Given the description of an element on the screen output the (x, y) to click on. 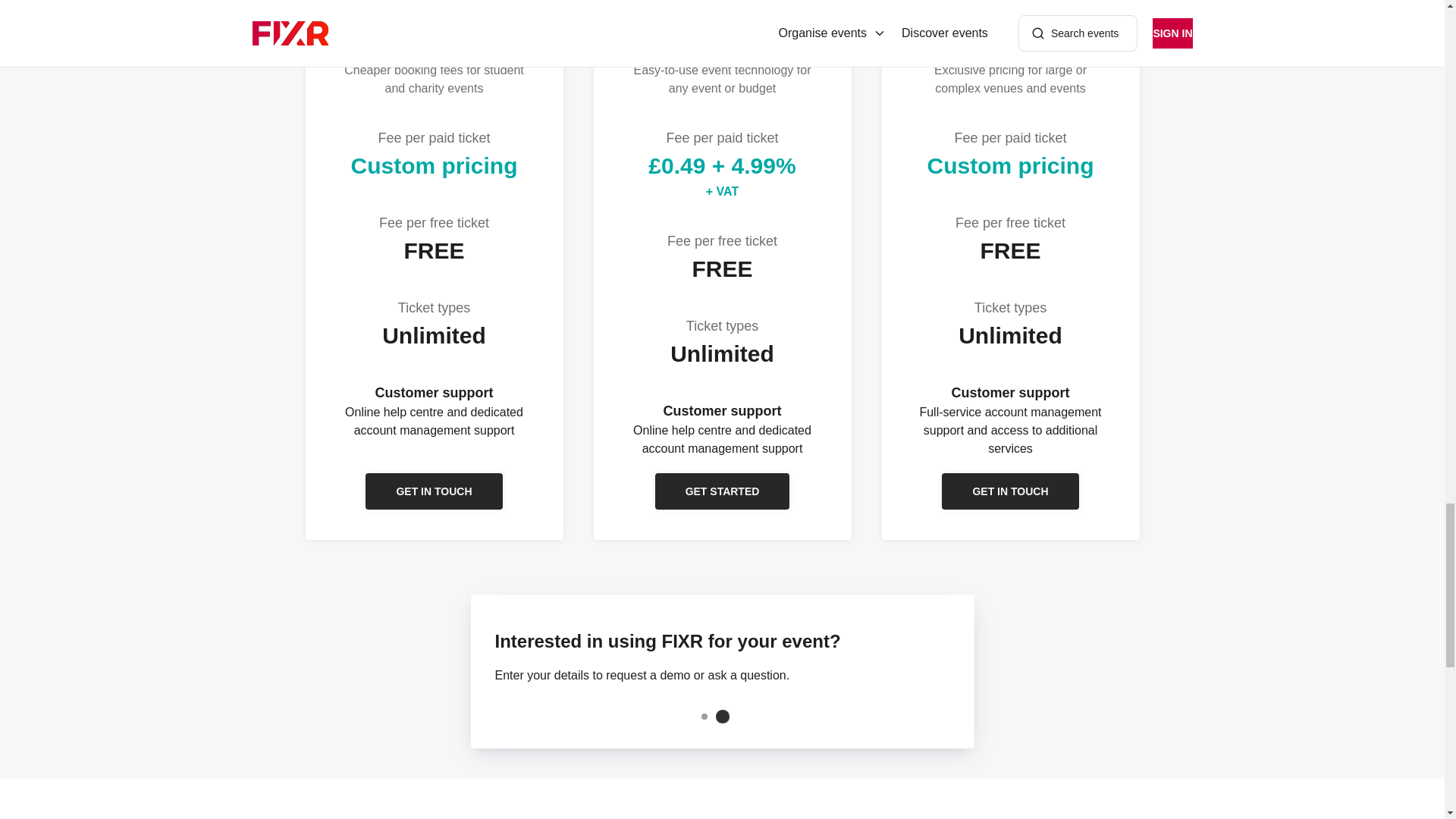
GET STARTED (722, 491)
GET IN TOUCH (1010, 491)
GET IN TOUCH (433, 491)
